Given the description of an element on the screen output the (x, y) to click on. 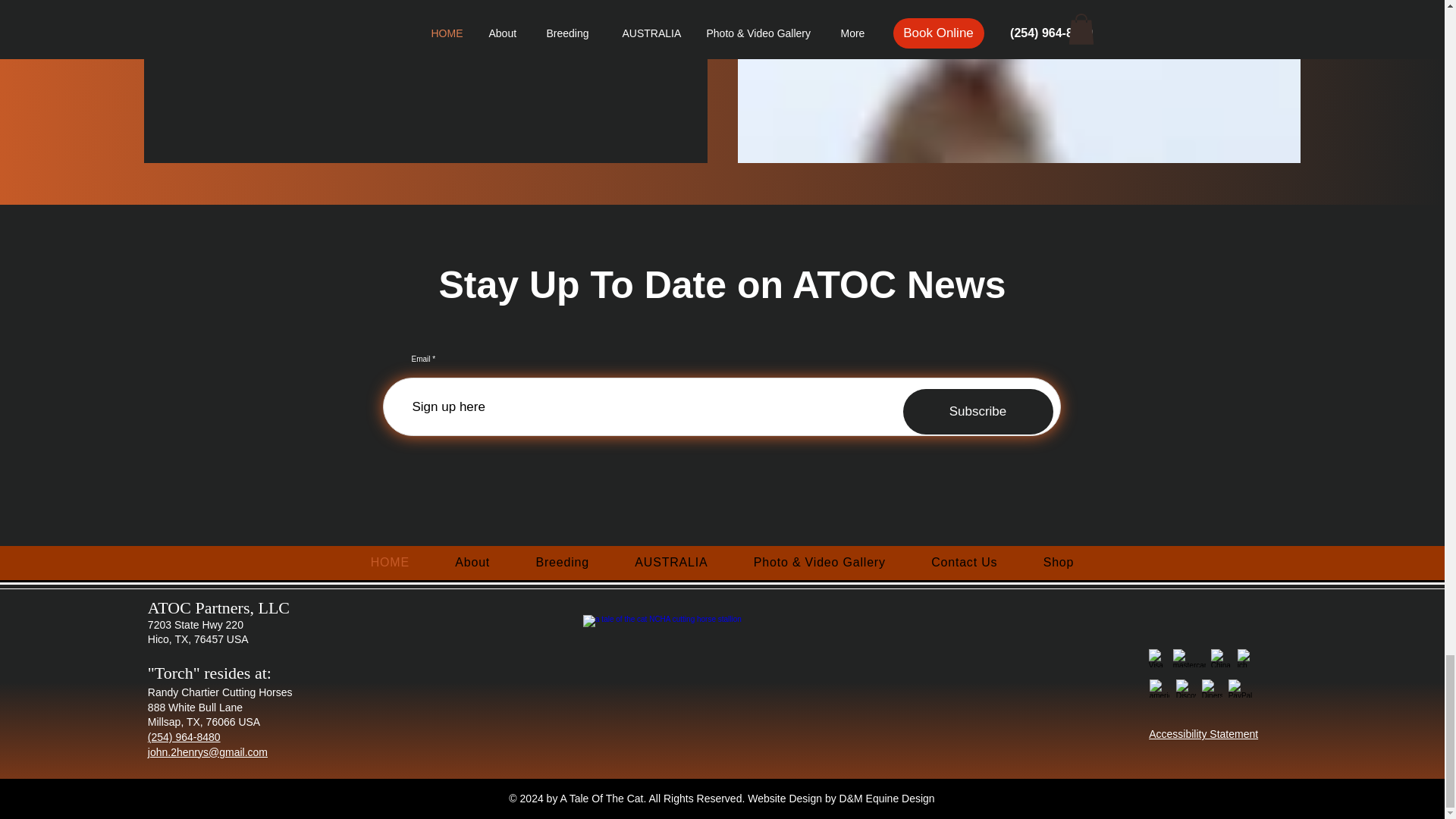
HOME (389, 562)
Subscribe (977, 411)
About (472, 562)
Accessibility Statement (1202, 734)
AUSTRALIA (671, 562)
Contact Us (964, 562)
Shop (1058, 562)
Breeding (561, 562)
